Given the description of an element on the screen output the (x, y) to click on. 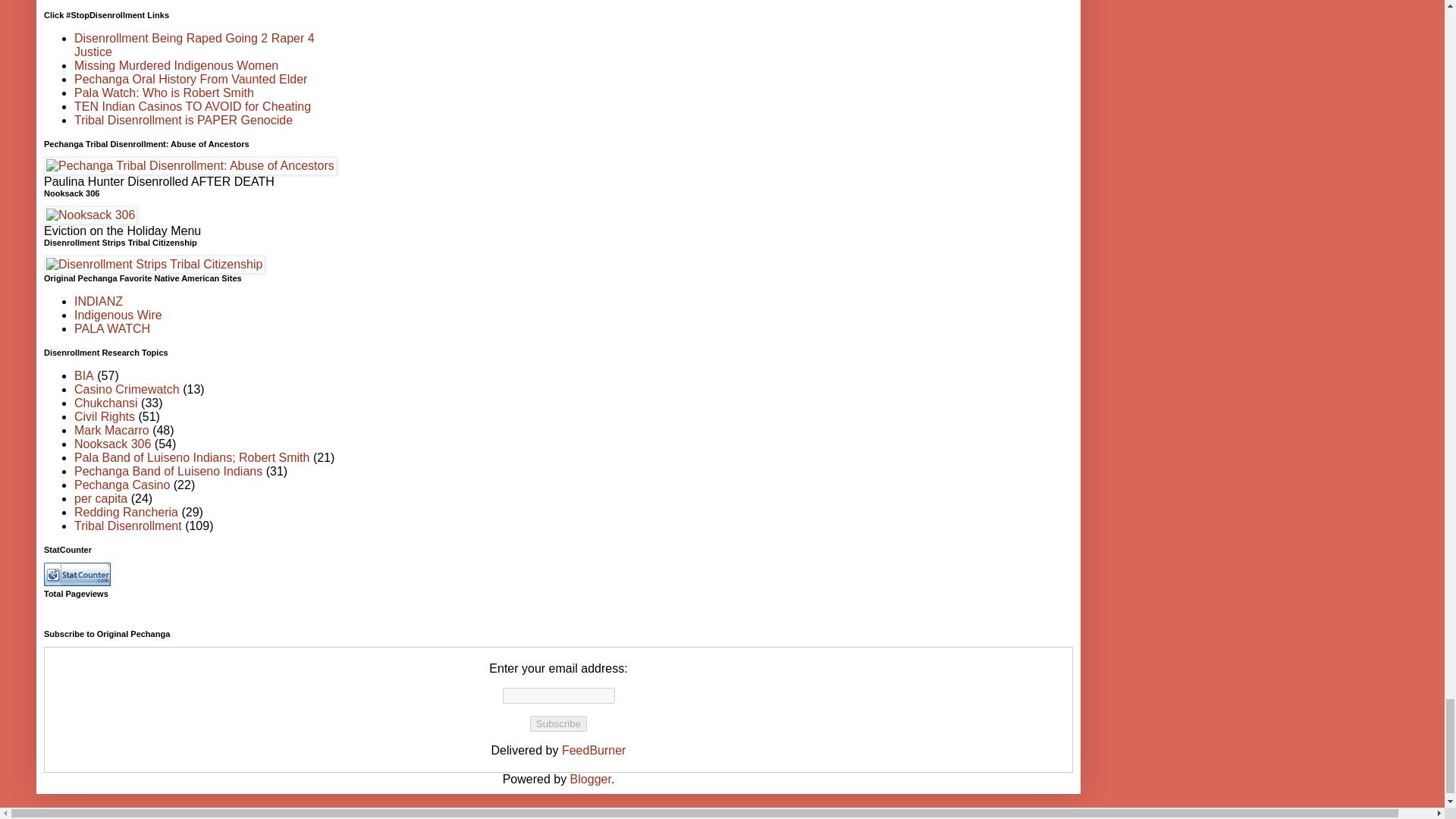
Subscribe (557, 723)
